Given the description of an element on the screen output the (x, y) to click on. 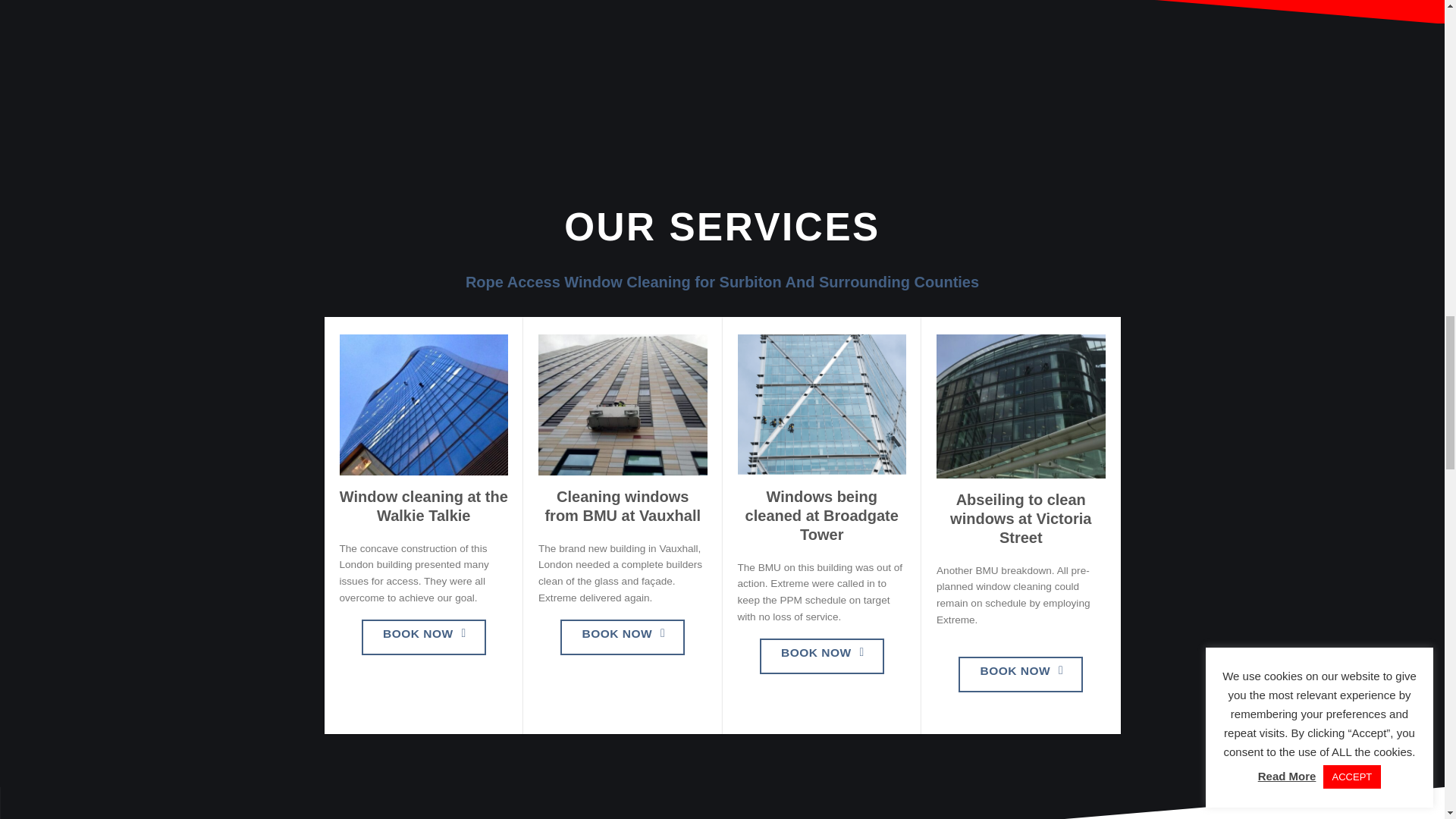
BOOK NOW (423, 637)
BOOK NOW (1020, 674)
BOOK NOW (622, 637)
BOOK NOW (821, 656)
